Given the description of an element on the screen output the (x, y) to click on. 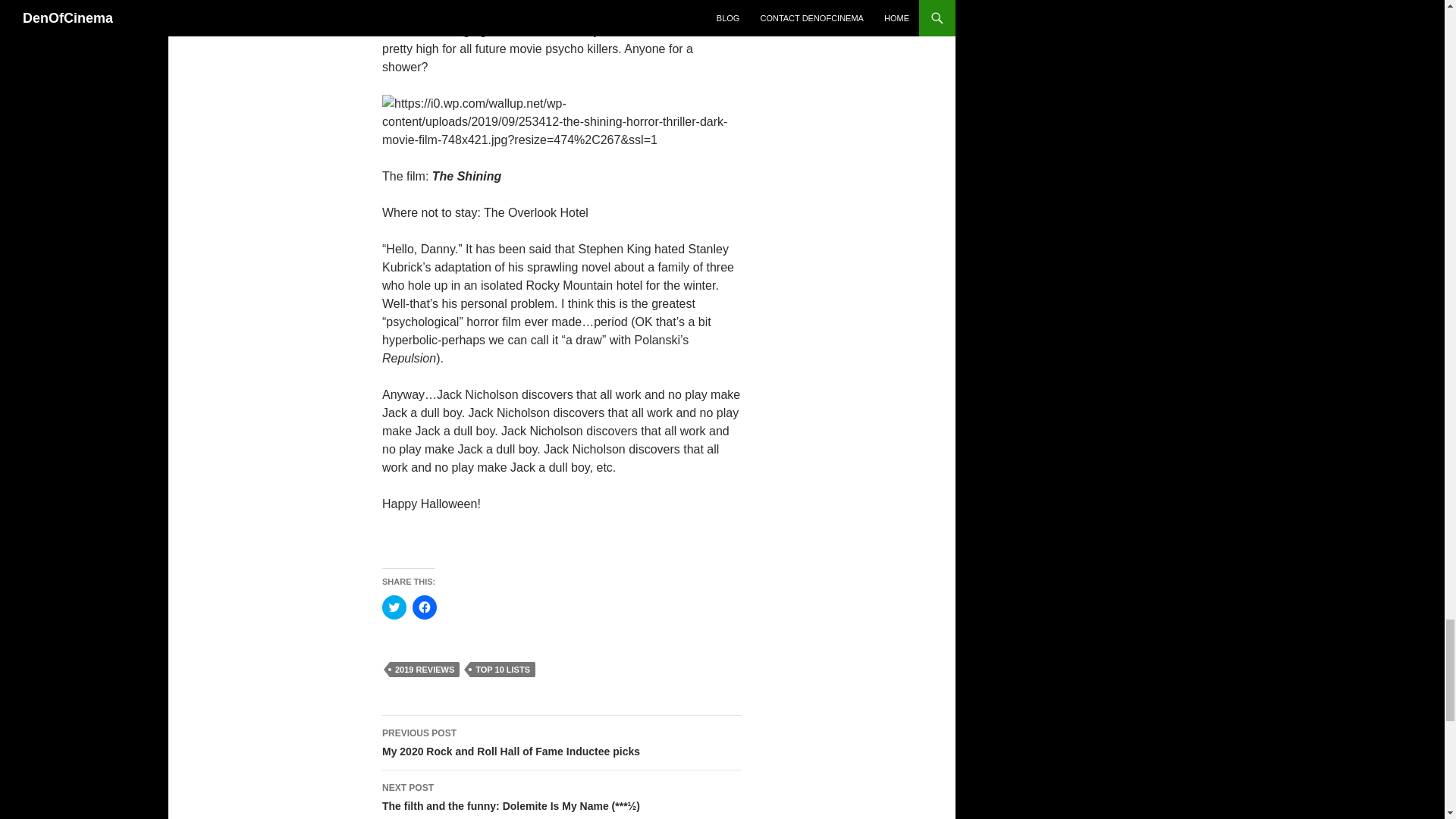
Click to share on Twitter (393, 607)
2019 REVIEWS (425, 669)
TOP 10 LISTS (502, 669)
Click to share on Facebook (424, 607)
